Given the description of an element on the screen output the (x, y) to click on. 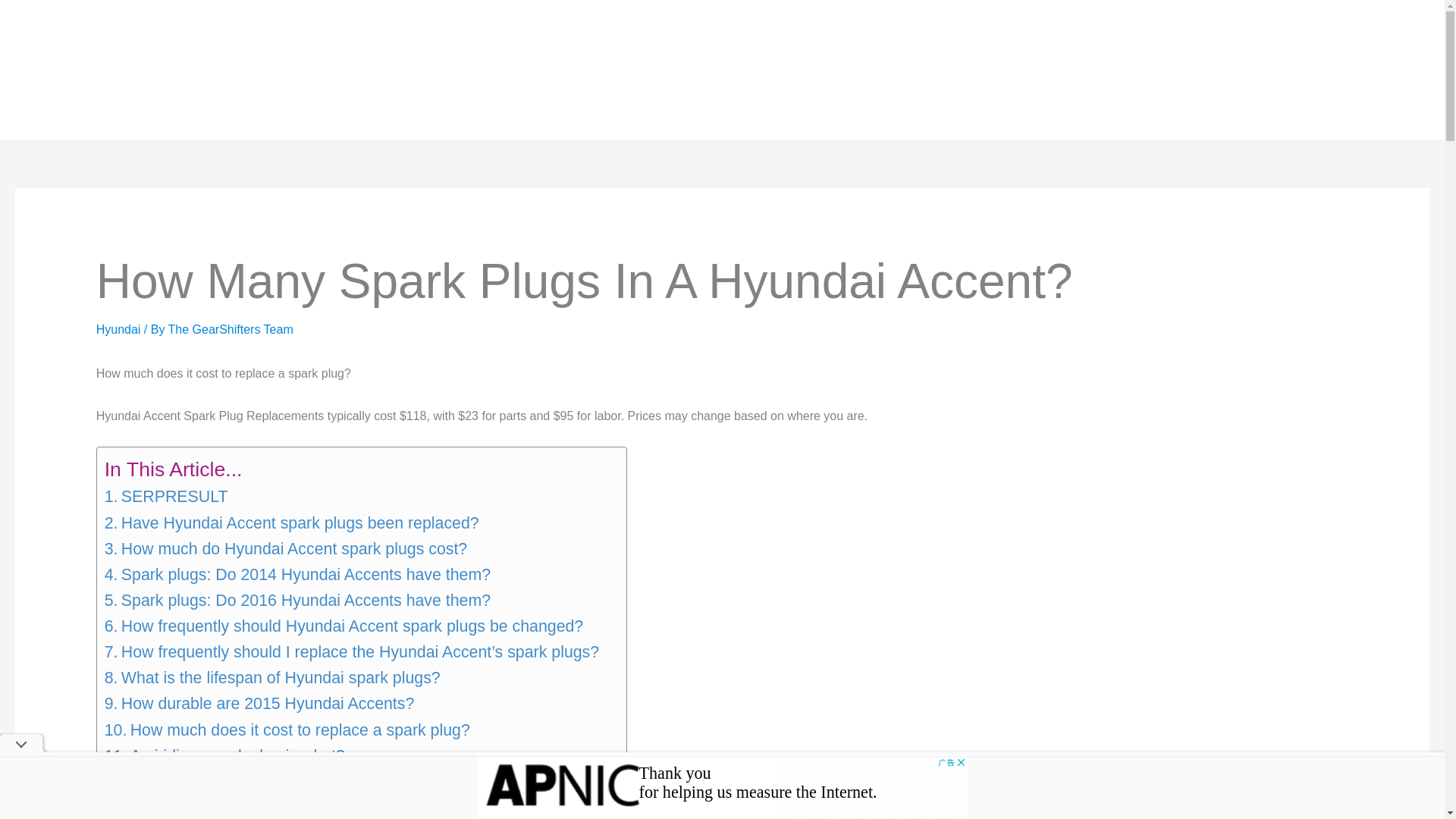
Have Hyundai Accent spark plugs been replaced? (291, 523)
Spark plugs: Do 2016 Hyundai Accents have them? (297, 600)
GUIDES (247, 69)
ALL (366, 69)
How durable are 2015 Hyundai Accents? (259, 703)
Hyundai (118, 328)
How much do Hyundai Accent spark plugs cost? (285, 548)
How durable are 2015 Hyundai Accents? (259, 703)
Spark plugs: Do 2016 Hyundai Accents have them? (297, 600)
What signs indicate a faulty spark plug? (259, 781)
